Given the description of an element on the screen output the (x, y) to click on. 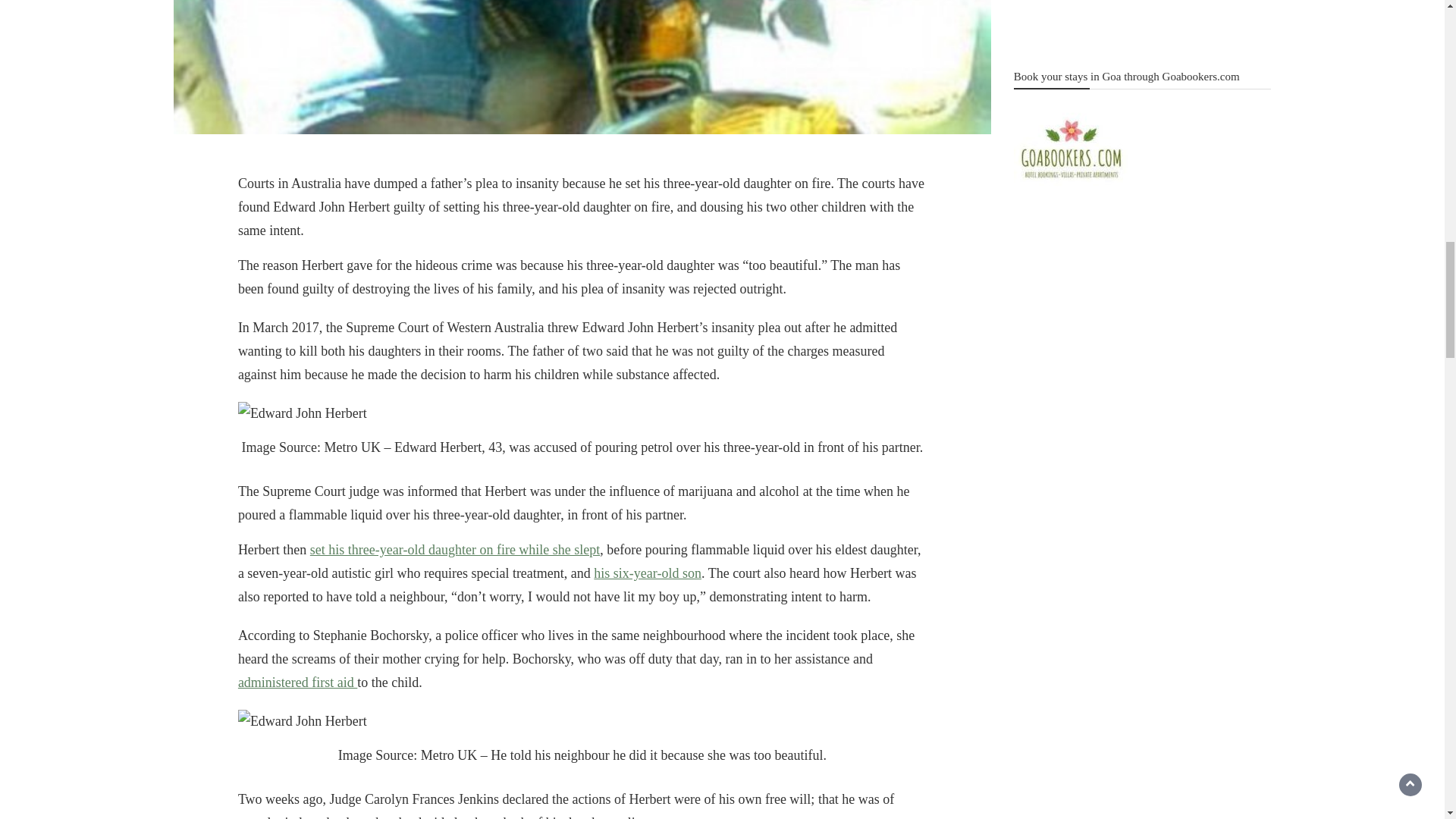
his six-year-old son (647, 572)
administered first aid (297, 682)
set his three-year-old daughter on fire while she slept (454, 549)
